Given the description of an element on the screen output the (x, y) to click on. 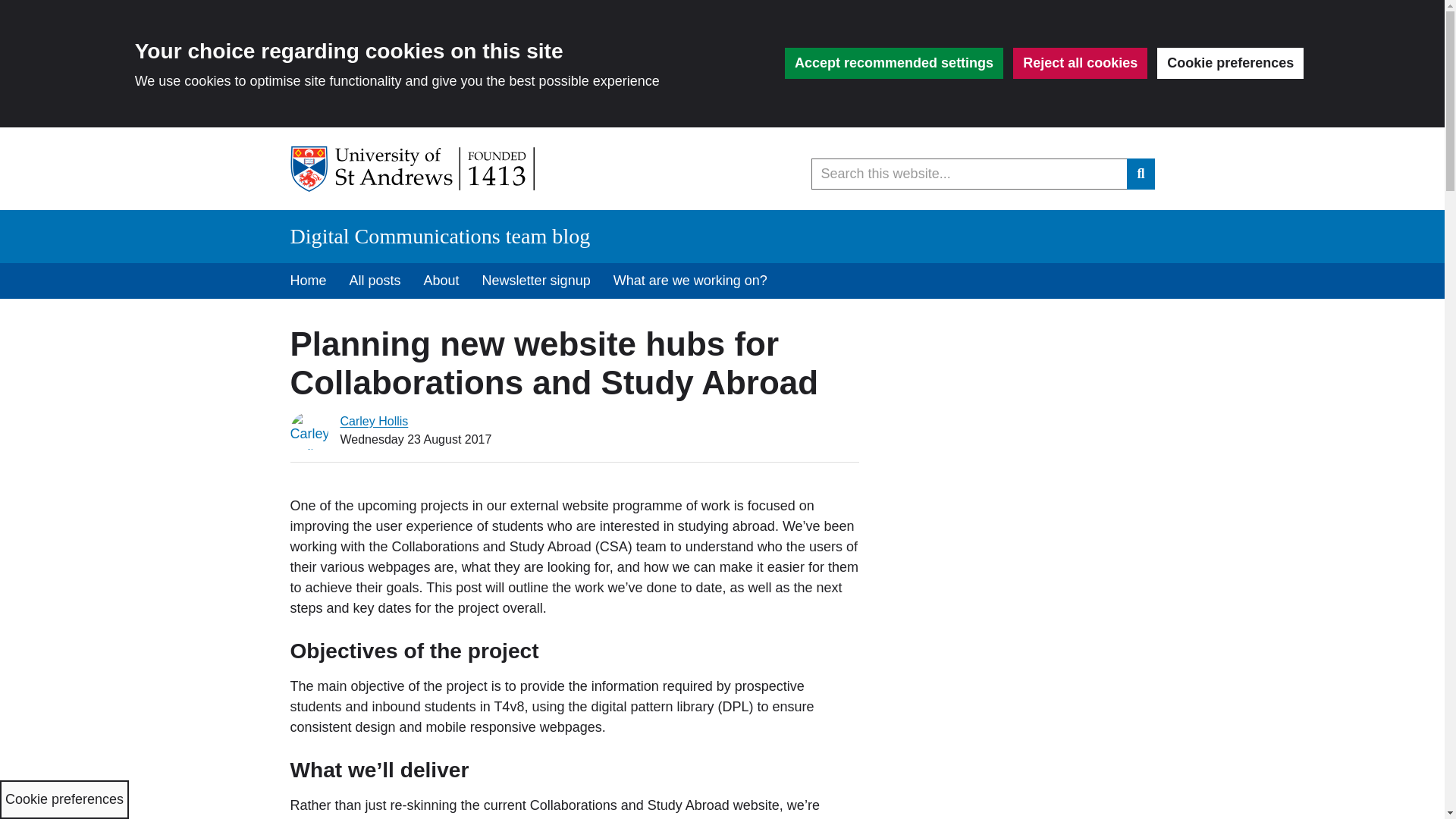
All posts (374, 280)
Posts by Carley Hollis (373, 420)
About (441, 280)
Digital Communications team blog (439, 236)
Newsletter signup (536, 280)
Home (308, 280)
What are we working on? (690, 280)
Accept recommended settings (893, 62)
Carley Hollis (373, 420)
Reject all cookies (1080, 62)
Cookie preferences (1230, 62)
